Given the description of an element on the screen output the (x, y) to click on. 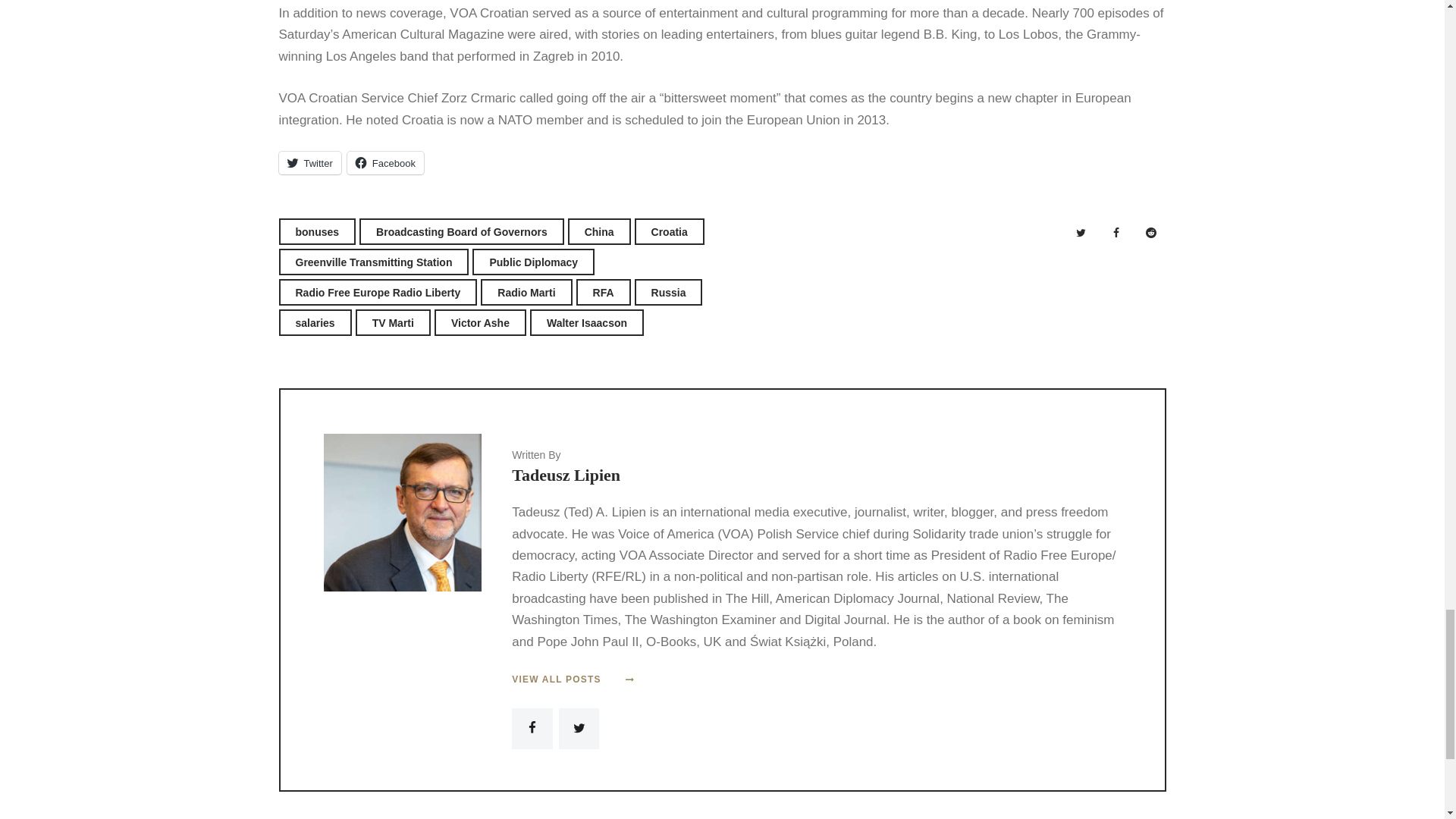
Twitter (309, 162)
bonuses (317, 231)
Public Diplomacy (532, 261)
salaries (315, 322)
Victor Ashe (479, 322)
RFA (603, 292)
Facebook (385, 162)
Radio Free Europe Radio Liberty (378, 292)
Walter Isaacson (586, 322)
Greenville Transmitting Station (373, 261)
